Given the description of an element on the screen output the (x, y) to click on. 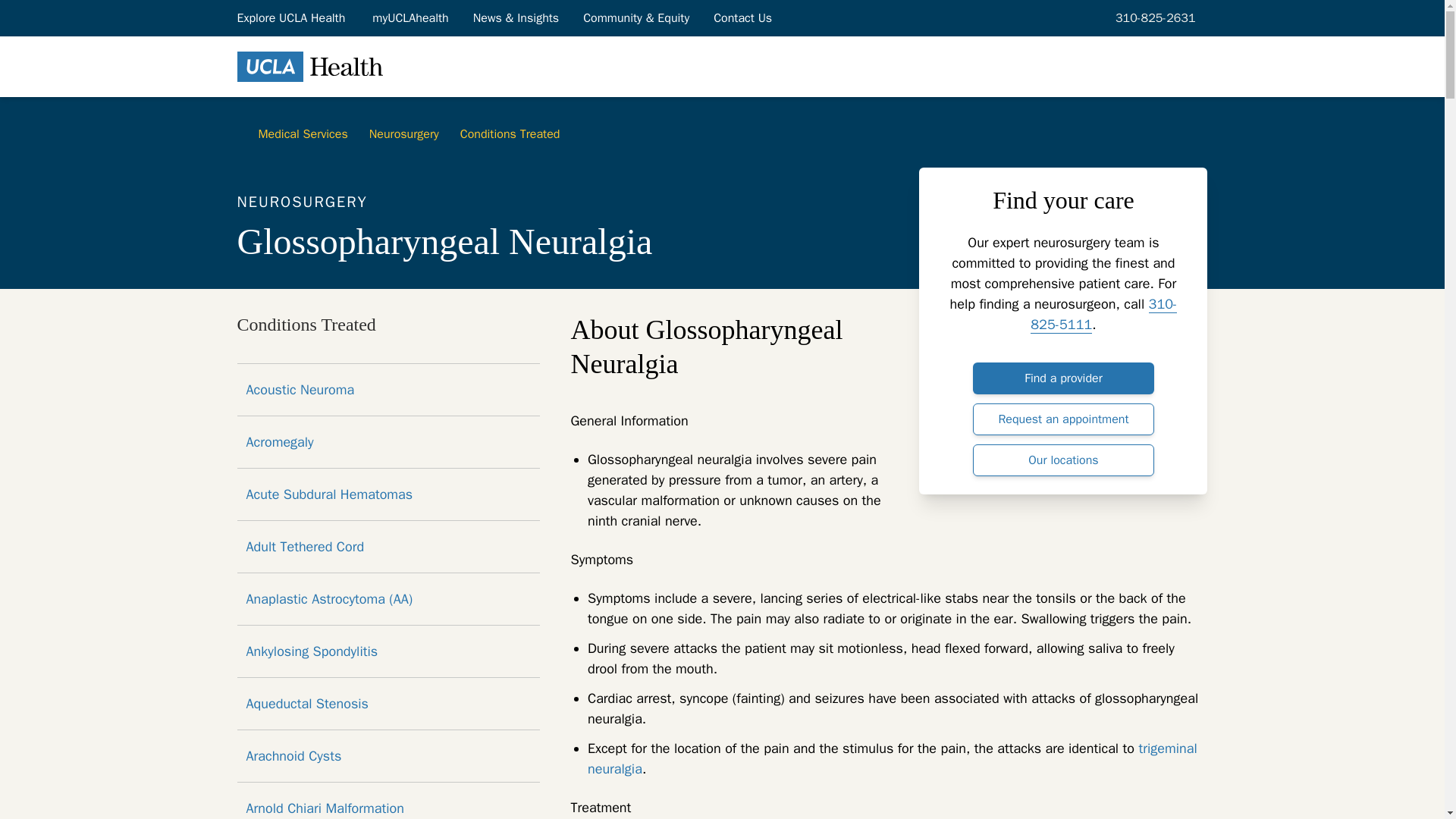
Contact Us (742, 17)
Explore UCLA Health (291, 17)
myUCLAhealth (409, 17)
myUCLAhealth Login. (409, 17)
trigeminal neuralgia (892, 758)
310-825-2631 (1152, 17)
